Given the description of an element on the screen output the (x, y) to click on. 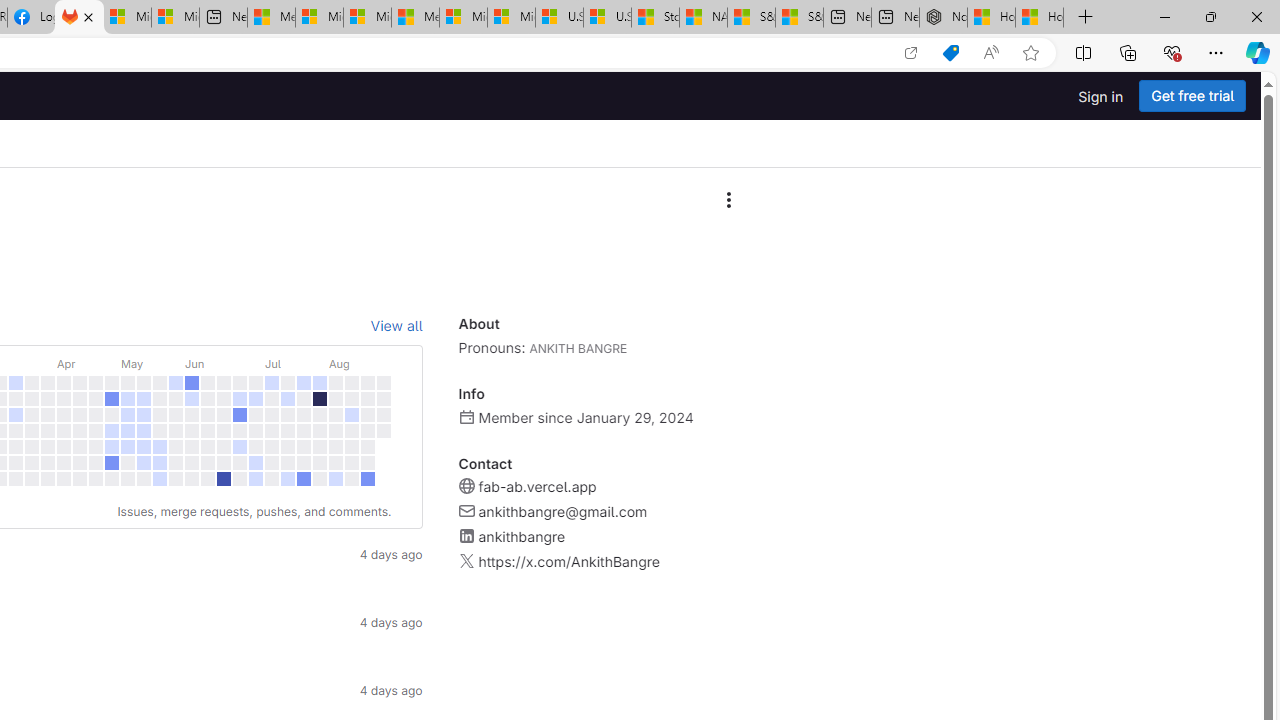
Close (1256, 16)
